Given the description of an element on the screen output the (x, y) to click on. 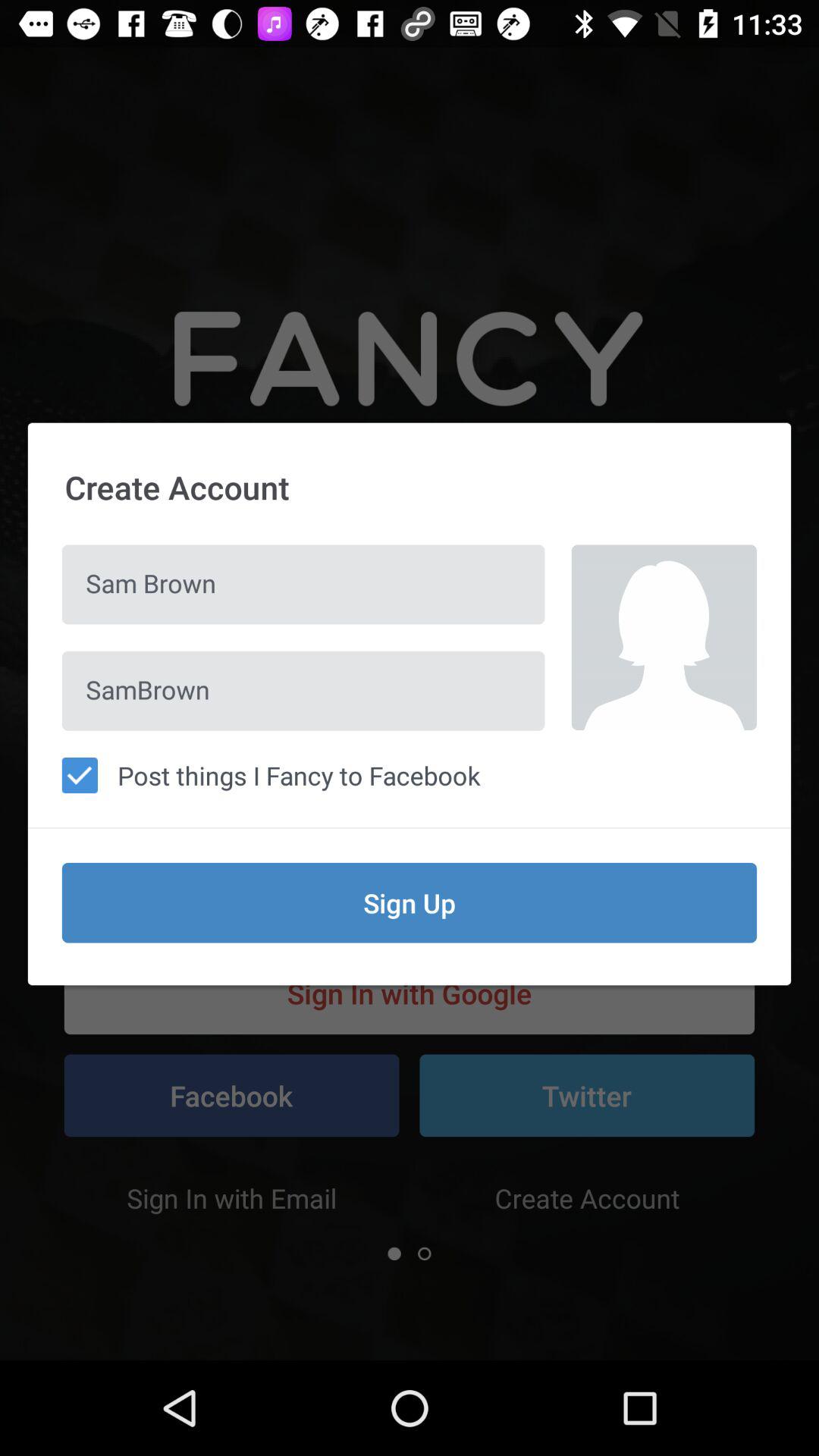
press icon below sam brown item (302, 690)
